Given the description of an element on the screen output the (x, y) to click on. 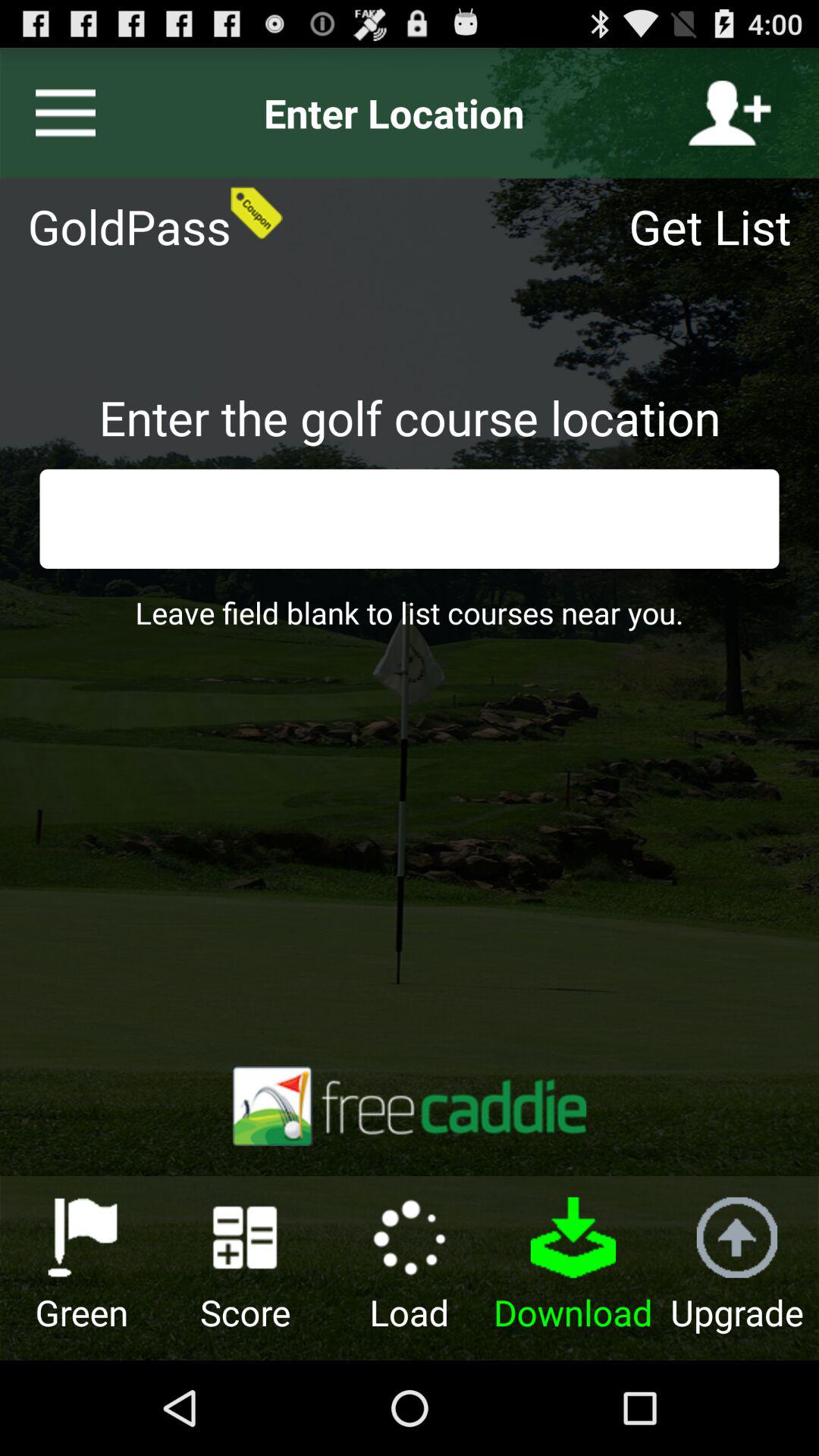
launch the icon next to the enter location icon (59, 112)
